Given the description of an element on the screen output the (x, y) to click on. 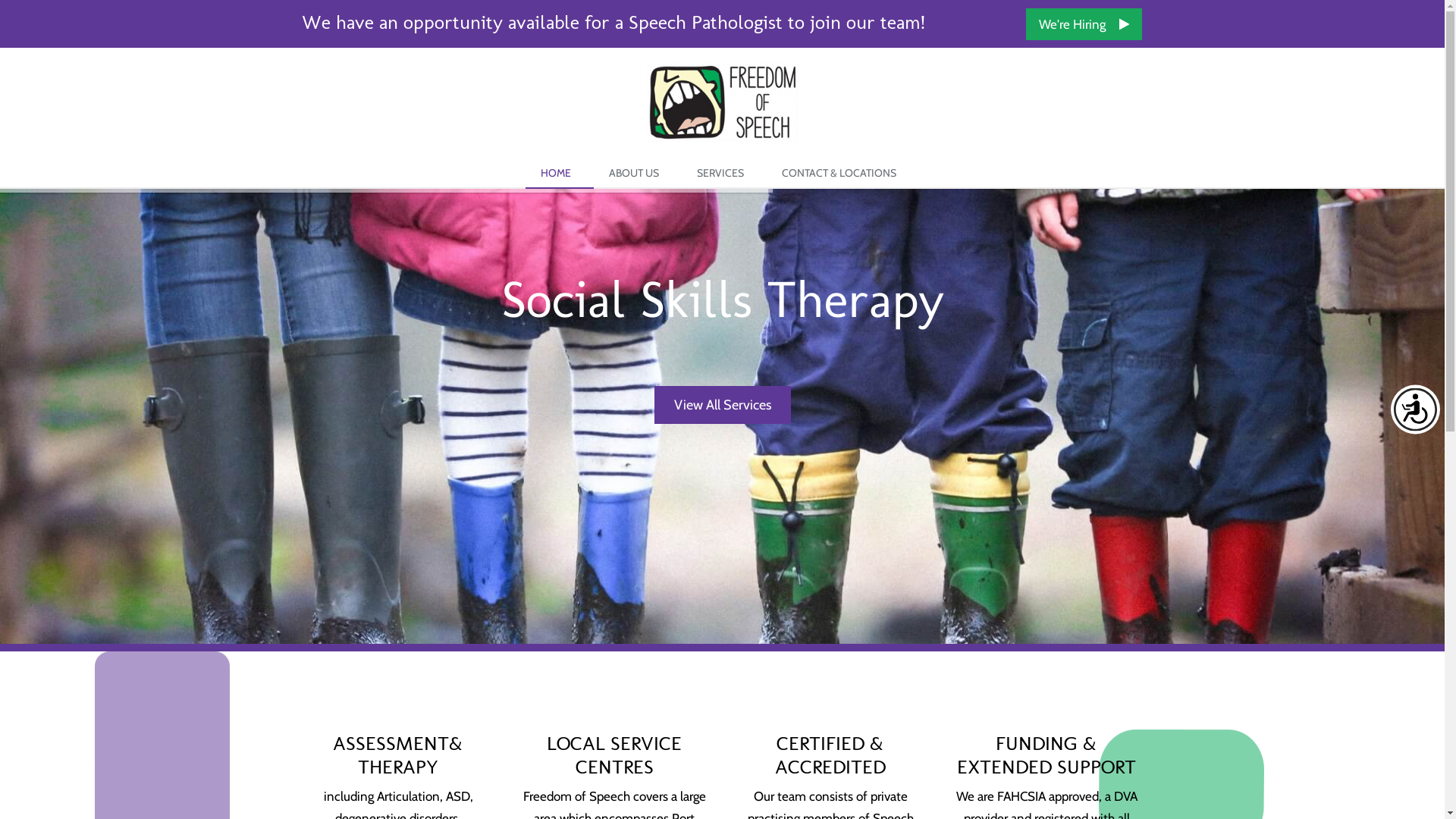
SERVICES Element type: text (723, 173)
CONTACT & LOCATIONS Element type: text (842, 173)
We're Hiring Element type: text (1083, 24)
HOME Element type: text (559, 173)
View All Services Element type: text (721, 404)
ABOUT US Element type: text (637, 173)
